Given the description of an element on the screen output the (x, y) to click on. 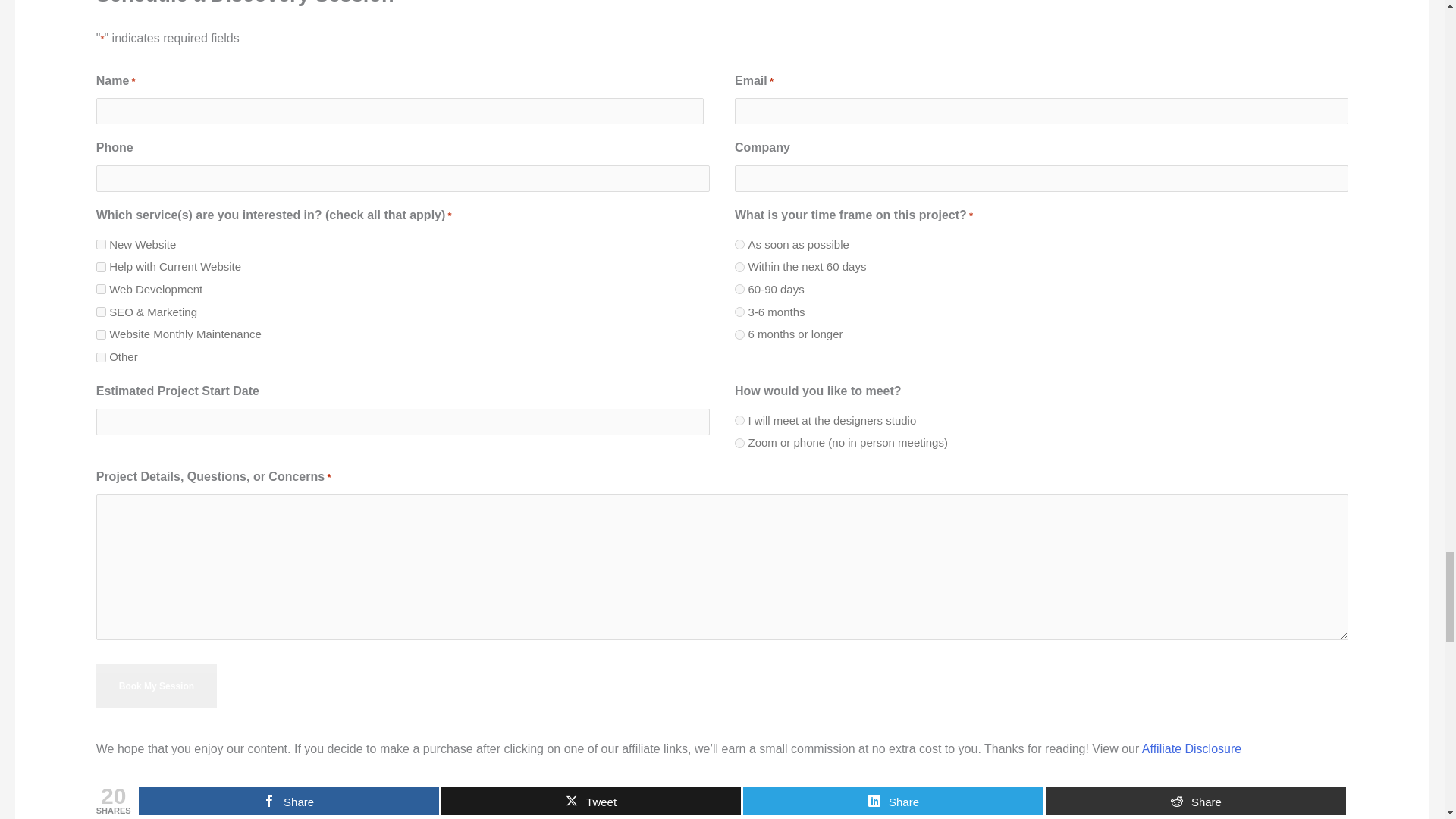
I will meet at the designers studio (739, 420)
Web Development (101, 289)
Website Monthly Maintenance (101, 334)
60-90 days (739, 289)
3-6 months (739, 311)
As soon as possible (739, 244)
6 months or longer (739, 334)
Within the next 60 days (739, 266)
Other (101, 357)
New Website (101, 244)
